Given the description of an element on the screen output the (x, y) to click on. 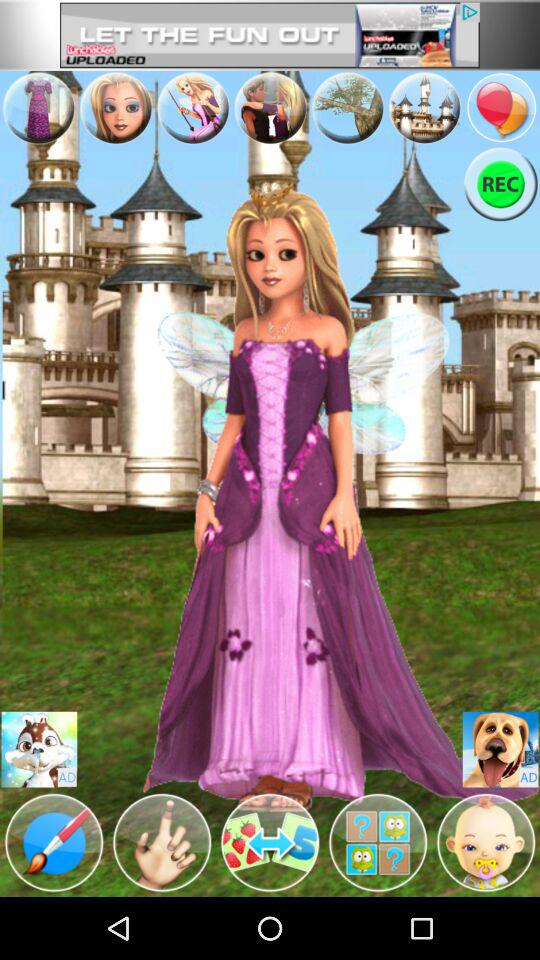
opens an advertisement (500, 749)
